Given the description of an element on the screen output the (x, y) to click on. 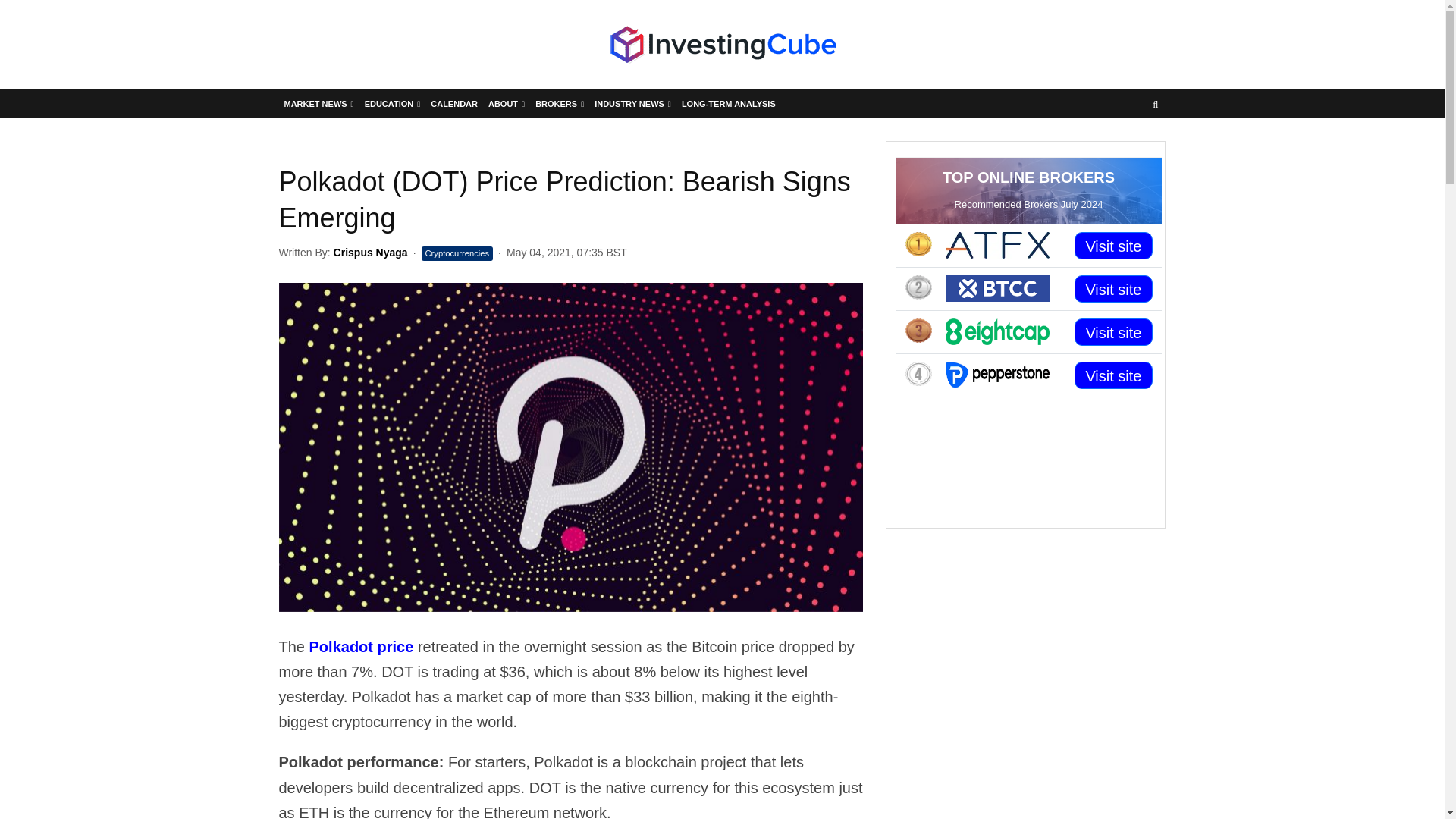
Crispus Nyaga (370, 252)
CALENDAR (454, 103)
EDUCATION (392, 103)
ABOUT (506, 103)
LONG-TERM ANALYSIS (728, 103)
BROKERS (559, 103)
INDUSTRY NEWS (633, 103)
MARKET NEWS (319, 103)
